Given the description of an element on the screen output the (x, y) to click on. 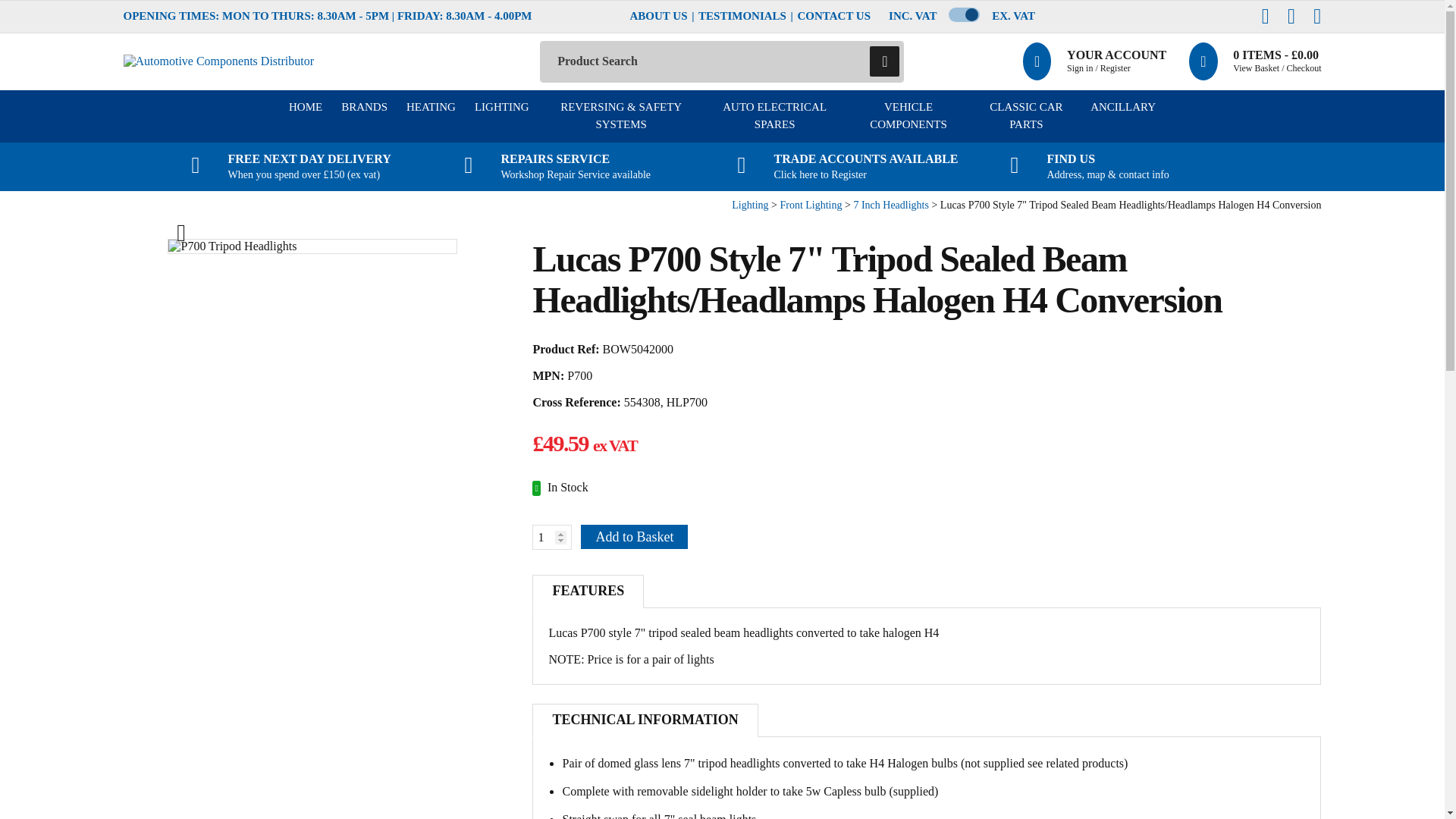
CONTACT US (833, 16)
ABOUT US (657, 16)
EX. VAT (1013, 16)
1 (552, 536)
TESTIMONIALS (742, 16)
BRANDS (364, 116)
YouTube (1316, 16)
GO (884, 60)
HOME (305, 116)
Facebook (1265, 16)
INC. VAT (912, 16)
Twitter (1291, 16)
